Given the description of an element on the screen output the (x, y) to click on. 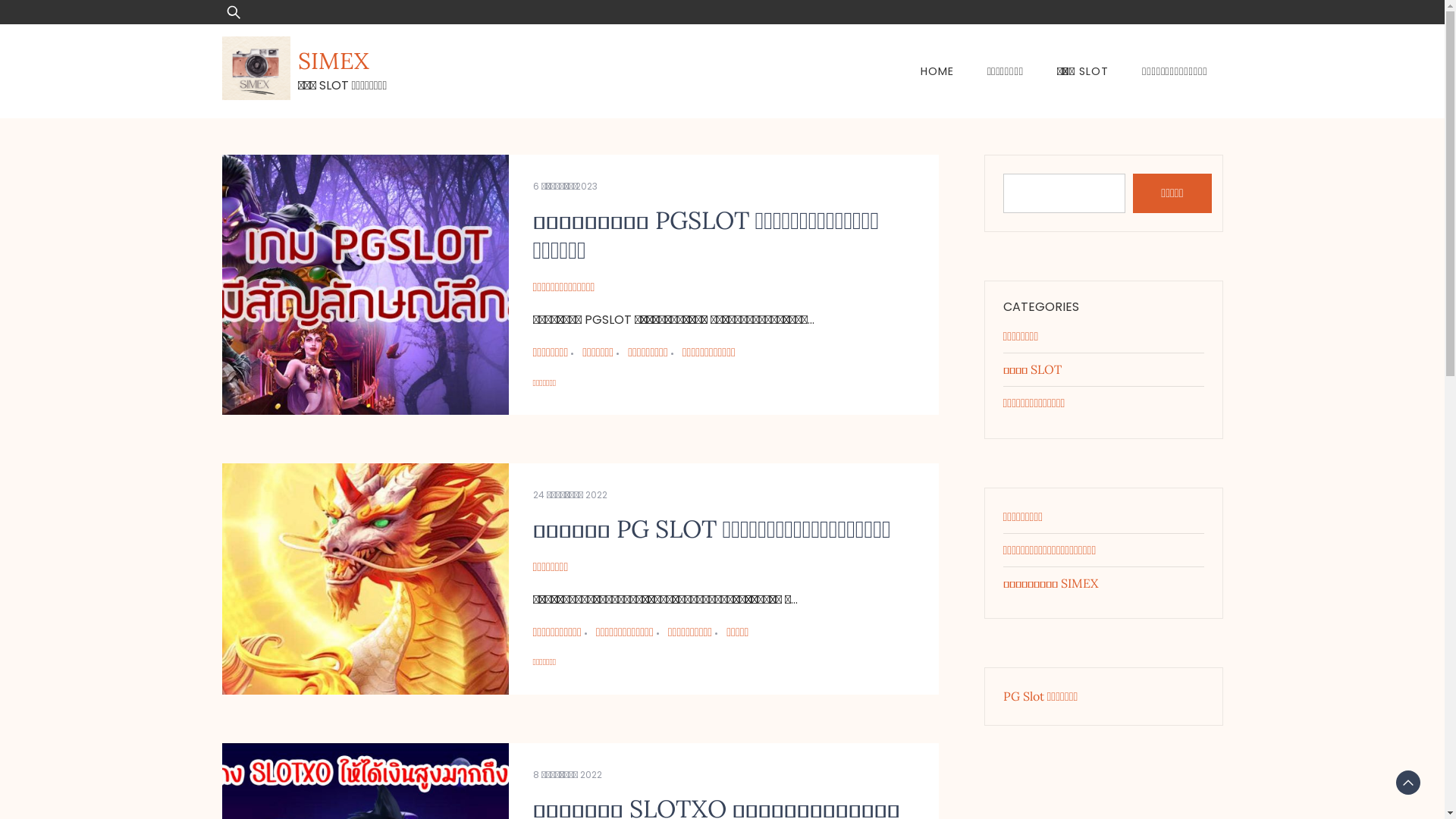
SIMEX Element type: text (332, 60)
HOME Element type: text (937, 71)
